Given the description of an element on the screen output the (x, y) to click on. 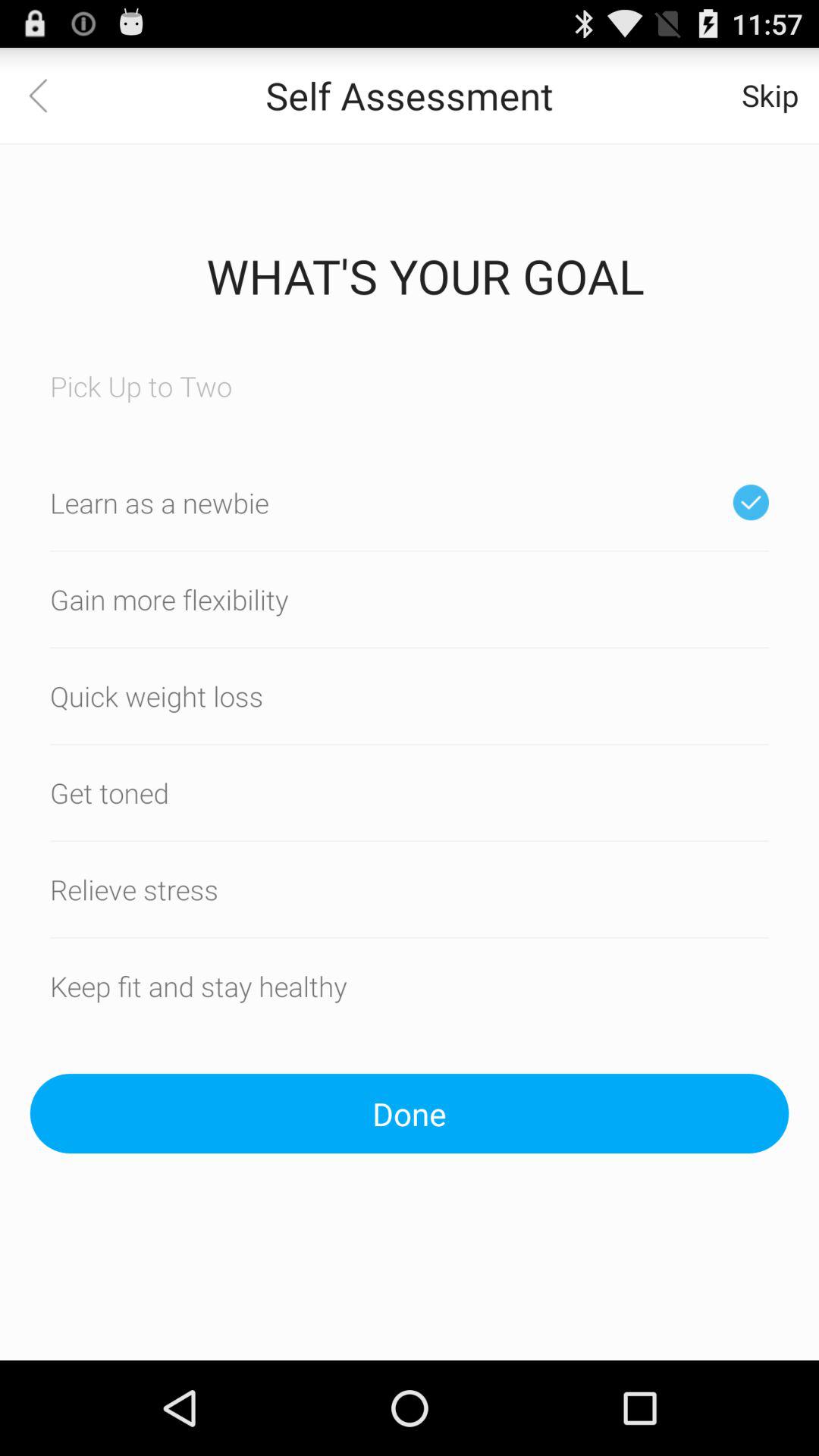
scroll to the done icon (409, 1113)
